Given the description of an element on the screen output the (x, y) to click on. 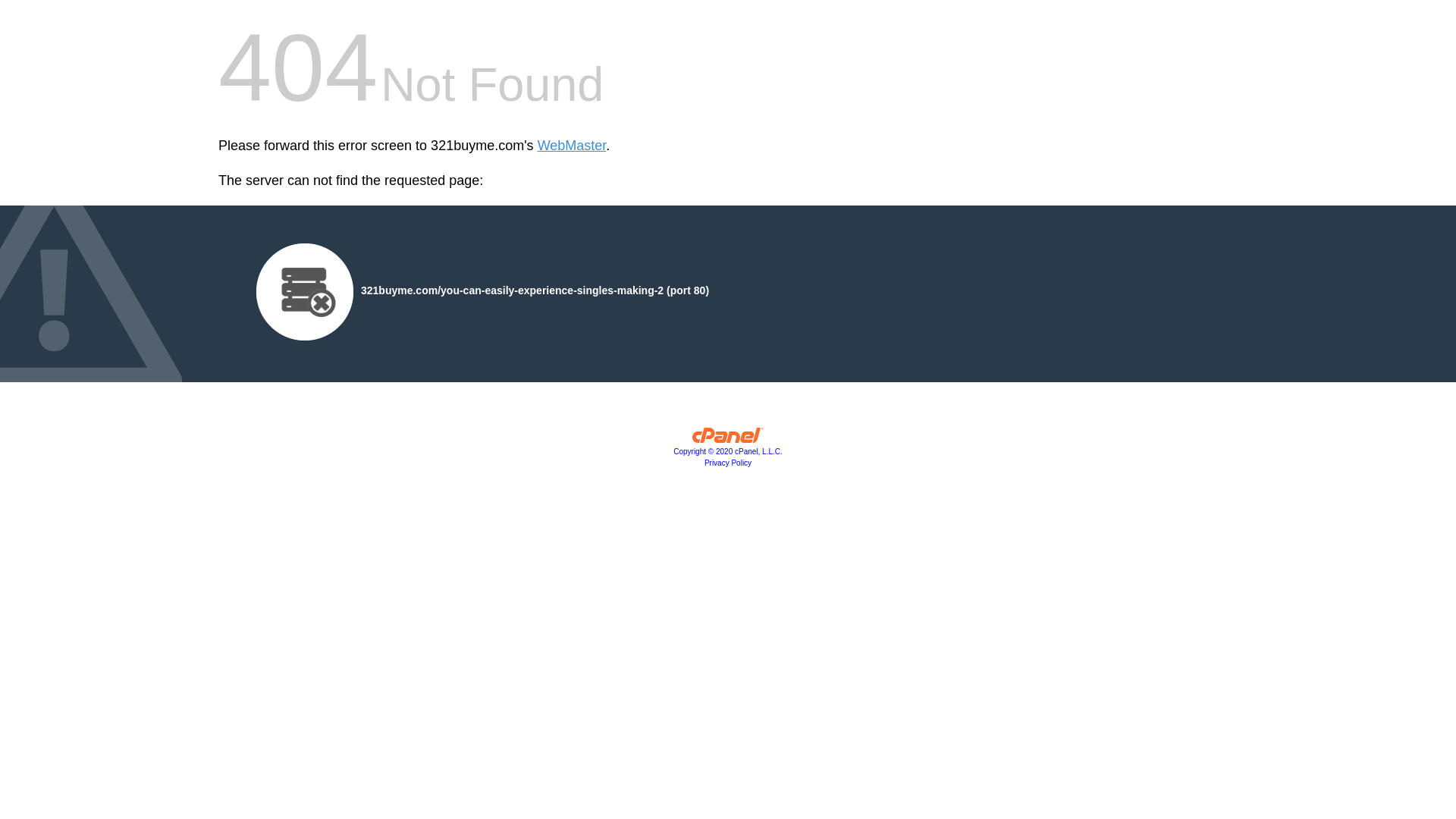
cPanel, Inc. Element type: hover (728, 439)
Privacy Policy Element type: text (727, 462)
WebMaster Element type: text (571, 145)
